Given the description of an element on the screen output the (x, y) to click on. 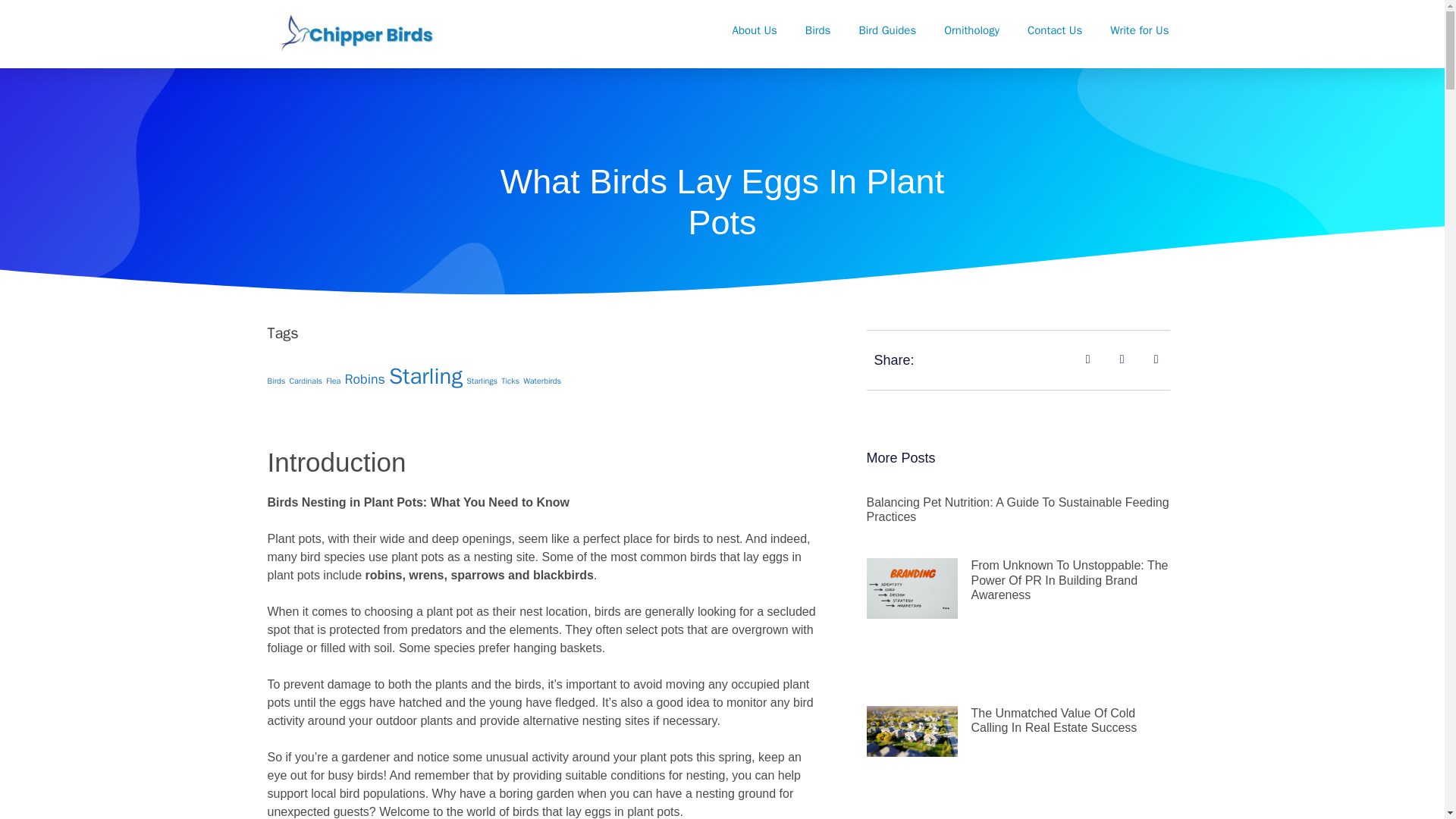
Write for Us (1139, 29)
Waterbirds (541, 380)
Contact Us (1054, 29)
Starling (425, 376)
About Us (754, 29)
Flea (333, 380)
Cardinals (304, 380)
Robins (363, 379)
Birds (275, 380)
Ticks (509, 380)
